Given the description of an element on the screen output the (x, y) to click on. 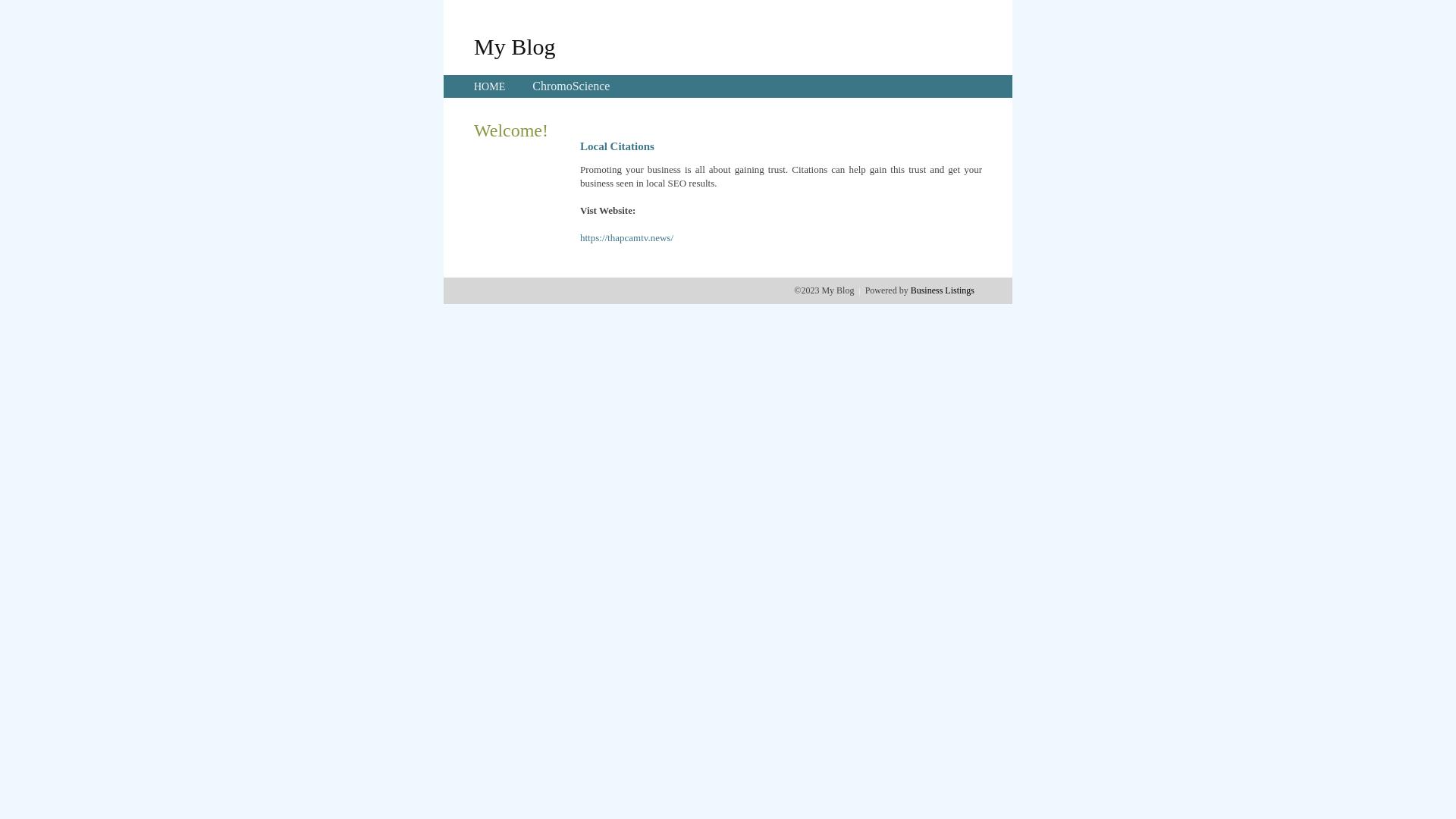
Business Listings Element type: text (942, 290)
ChromoScience Element type: text (570, 85)
HOME Element type: text (489, 86)
My Blog Element type: text (514, 46)
https://thapcamtv.news/ Element type: text (626, 237)
